Given the description of an element on the screen output the (x, y) to click on. 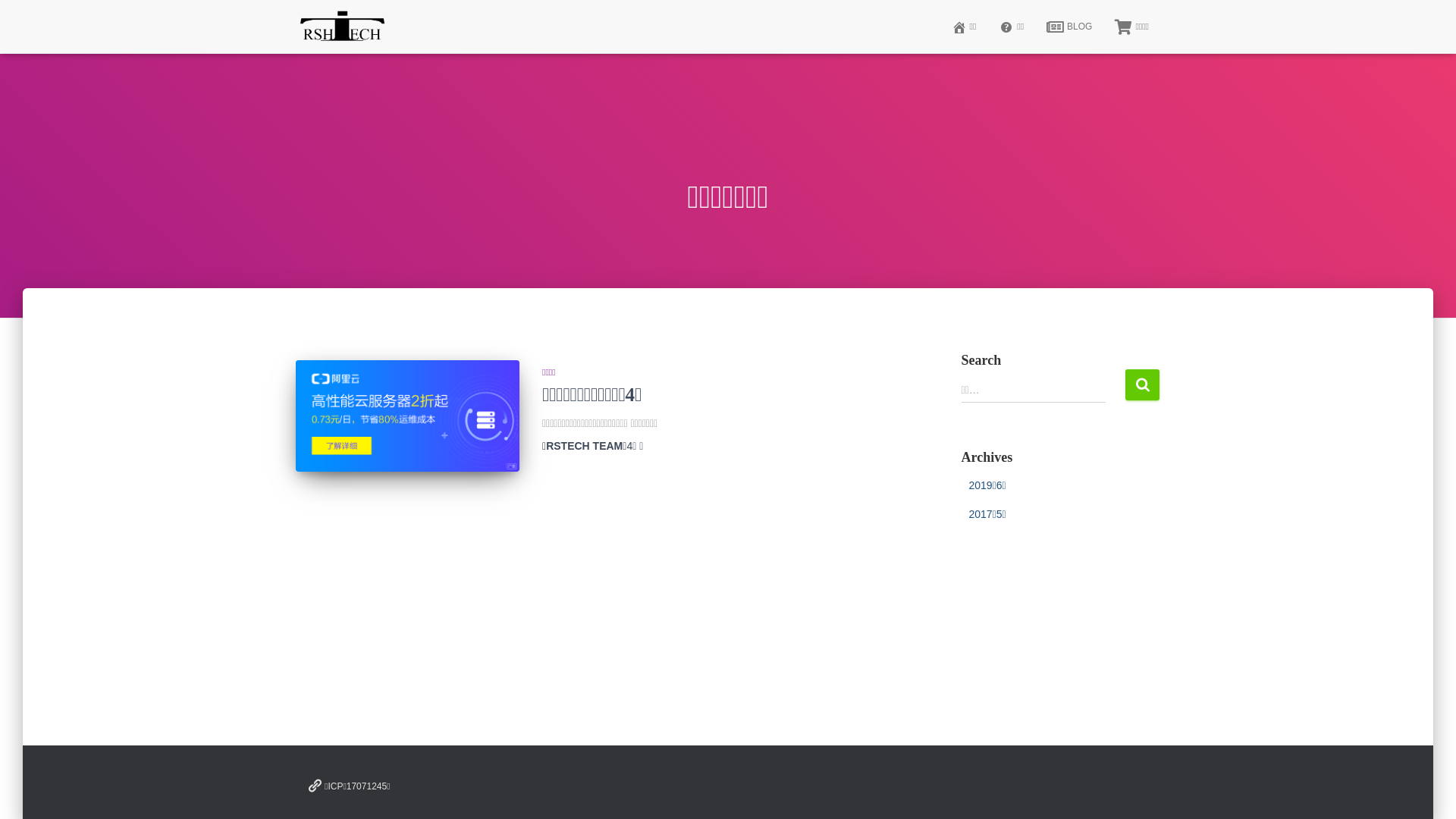
RS Element type: hover (342, 26)
RSTECH TEAM Element type: text (584, 445)
BLOG Element type: text (1069, 26)
